Given the description of an element on the screen output the (x, y) to click on. 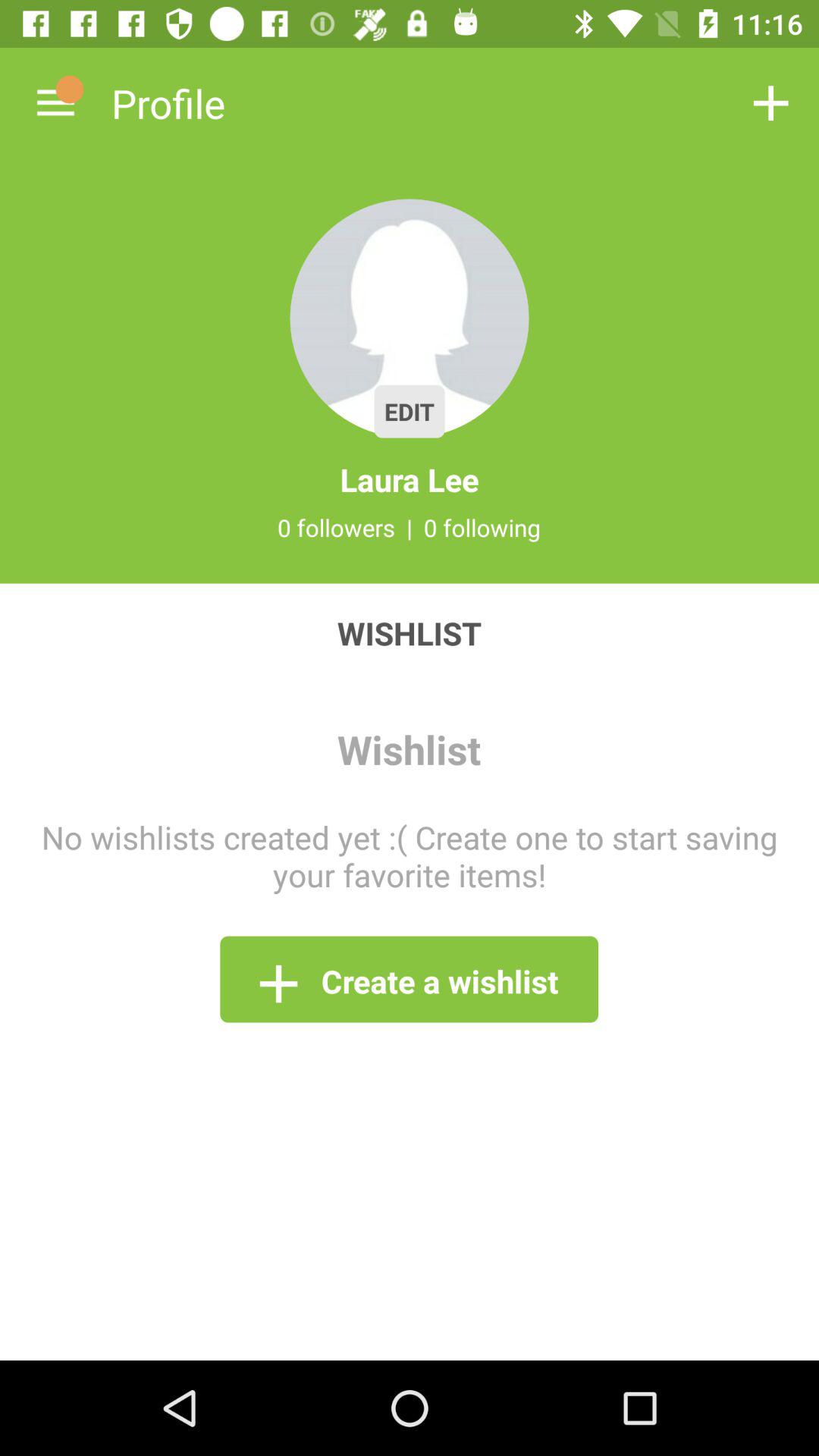
click the item next to the   |   icon (336, 527)
